Given the description of an element on the screen output the (x, y) to click on. 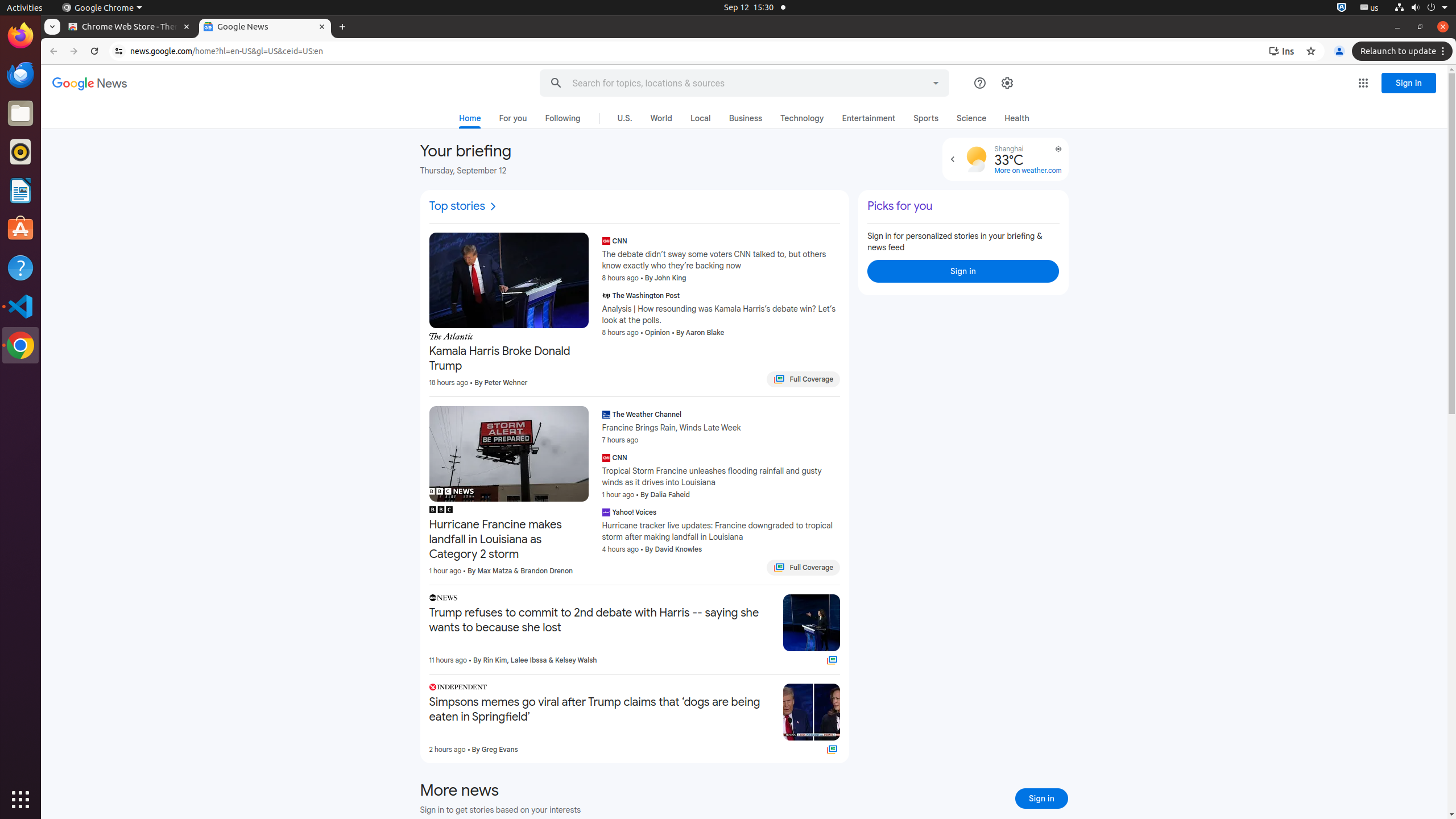
LibreOffice Writer Element type: push-button (20, 190)
New Tab Element type: push-button (342, 26)
Sports Element type: menu-item (926, 118)
Full Coverage Element type: link (832, 749)
Advanced search Element type: push-button (935, 80)
